Given the description of an element on the screen output the (x, y) to click on. 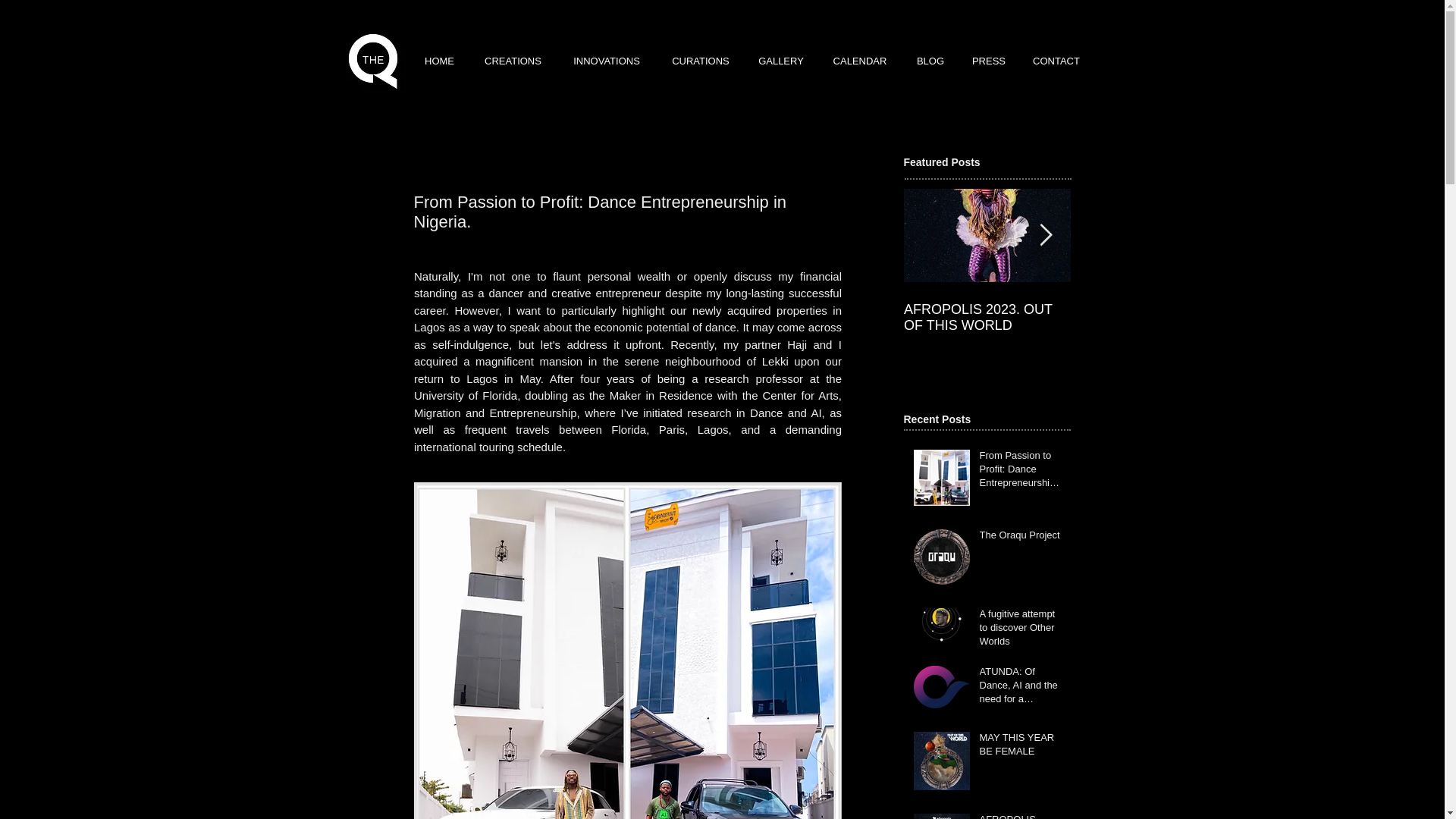
A fugitive attempt to discover Other Worlds (1020, 631)
AFROPOLIS 2023. OUT OF THIS WORLD (1020, 816)
The Oraqu Project (1020, 537)
From Passion to Profit: Dance Entrepreneurship in Nigeria. (1020, 472)
AFROPOLIS 2023. OUT OF THIS WORLD (987, 317)
MAY THIS YEAR BE FEMALE (1020, 747)
